Given the description of an element on the screen output the (x, y) to click on. 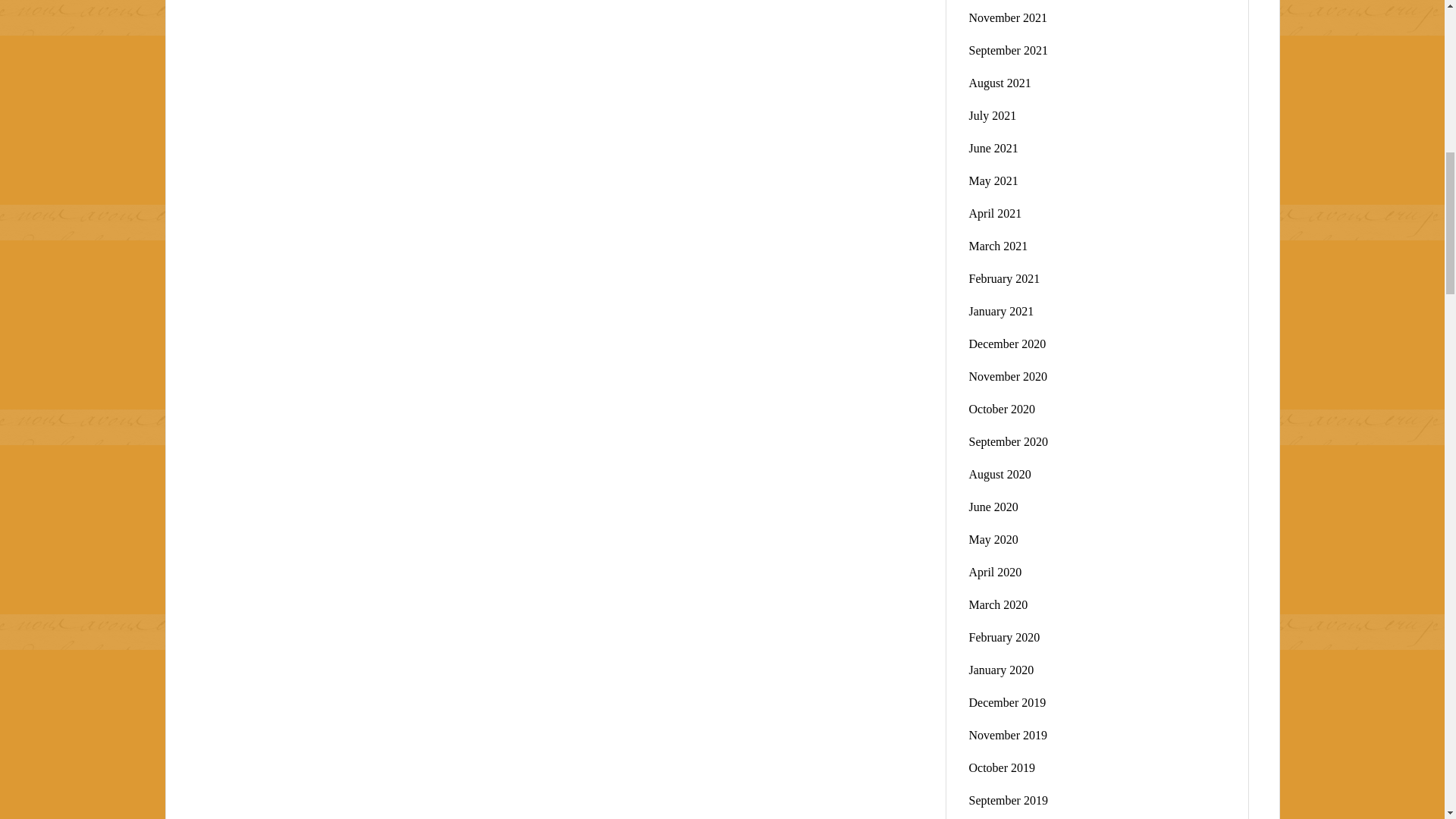
December 2020 (1007, 343)
December 2019 (1007, 702)
June 2020 (993, 506)
March 2021 (998, 245)
September 2021 (1008, 50)
November 2019 (1008, 735)
February 2020 (1005, 636)
March 2020 (998, 604)
June 2021 (993, 147)
August 2020 (999, 473)
August 2021 (999, 82)
September 2020 (1008, 440)
November 2020 (1008, 376)
July 2021 (992, 115)
October 2020 (1002, 408)
